Given the description of an element on the screen output the (x, y) to click on. 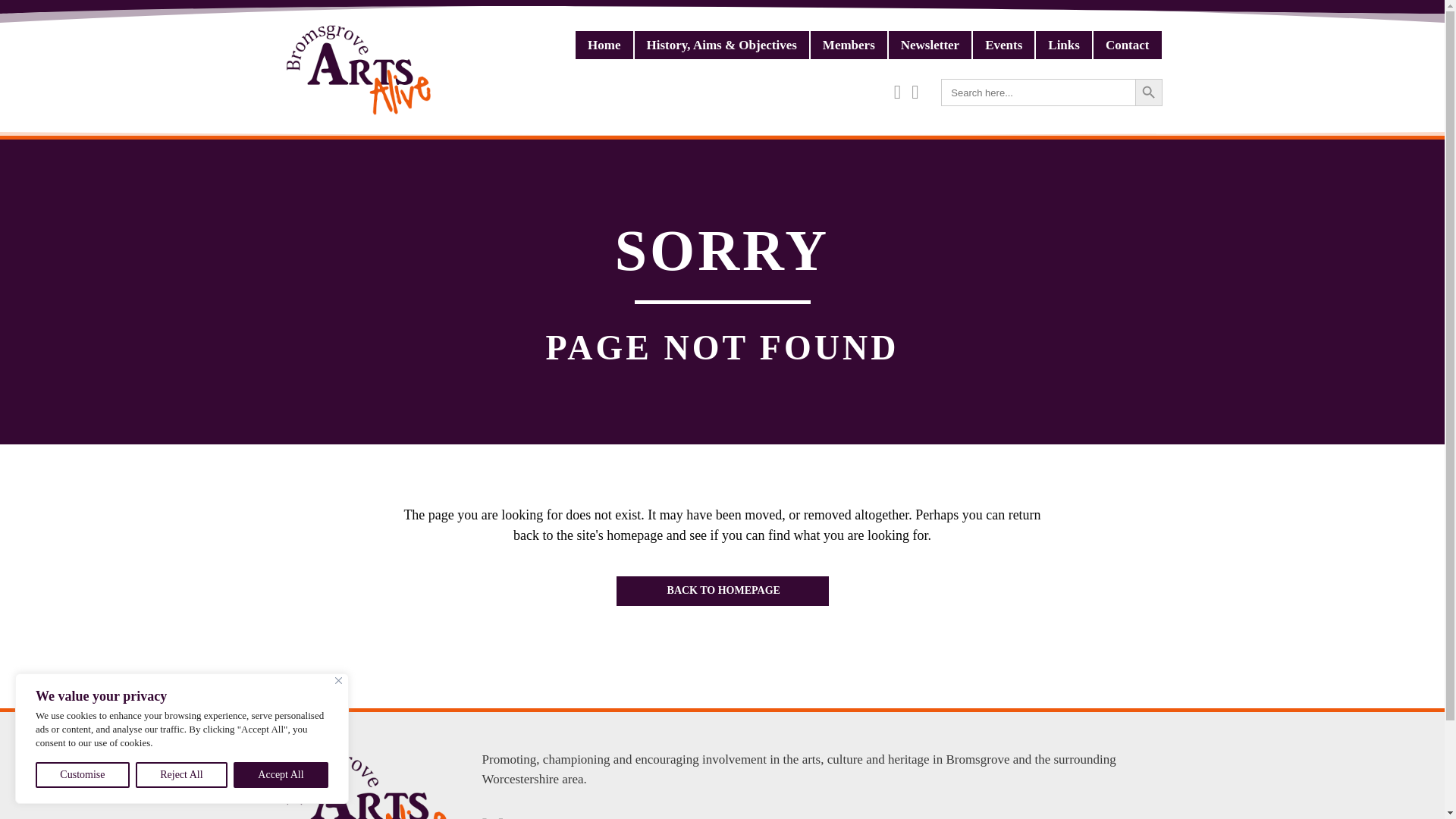
Reject All (181, 774)
Home (603, 44)
Links (1063, 44)
Accept All (280, 774)
Events (1002, 44)
bromsgrove-Arts-Alive-logo-cropped (366, 784)
Newsletter (929, 44)
Members (848, 44)
Contact (1127, 44)
Customise (81, 774)
